Given the description of an element on the screen output the (x, y) to click on. 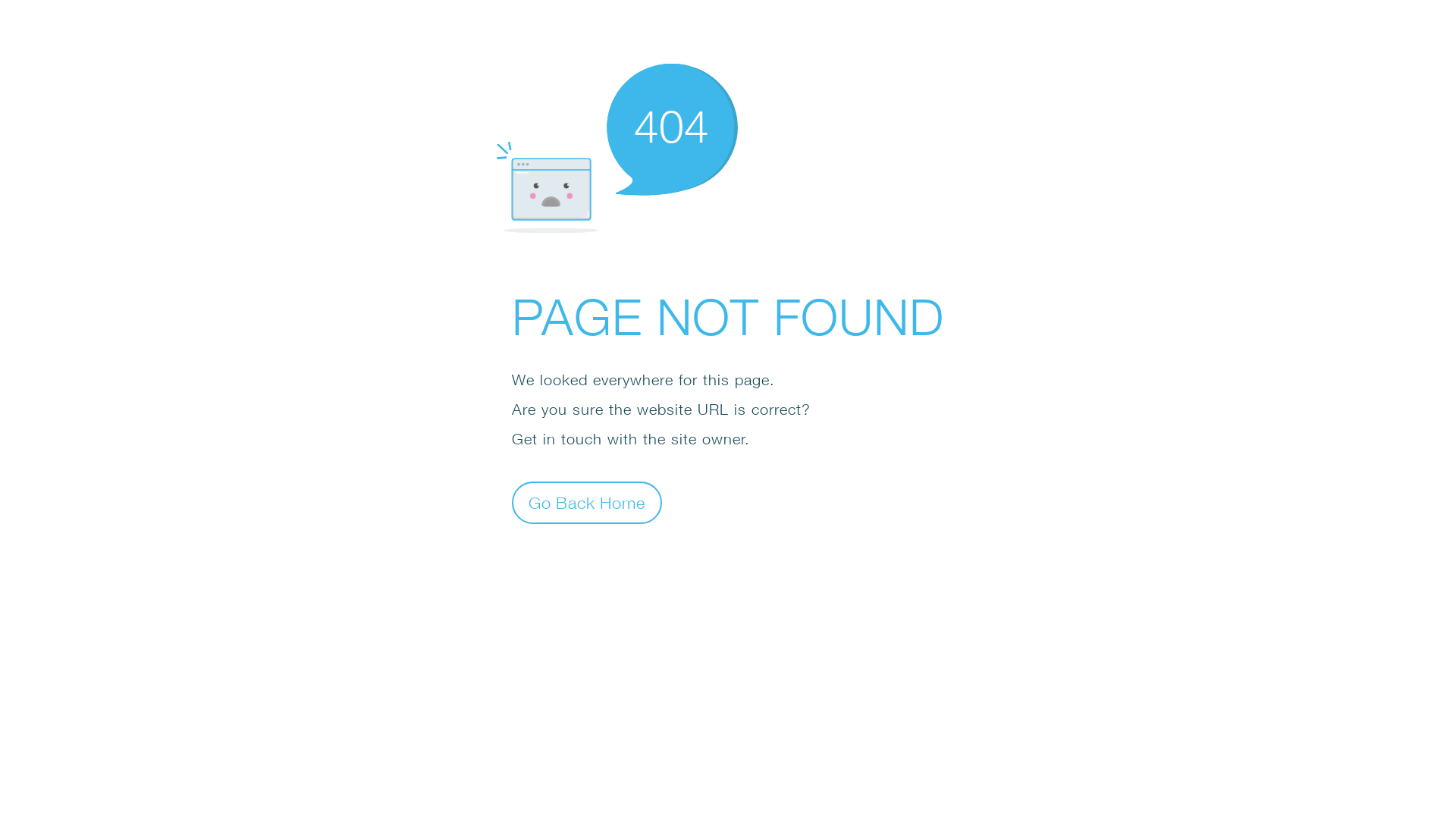
Go Back Home Element type: text (586, 502)
